Given the description of an element on the screen output the (x, y) to click on. 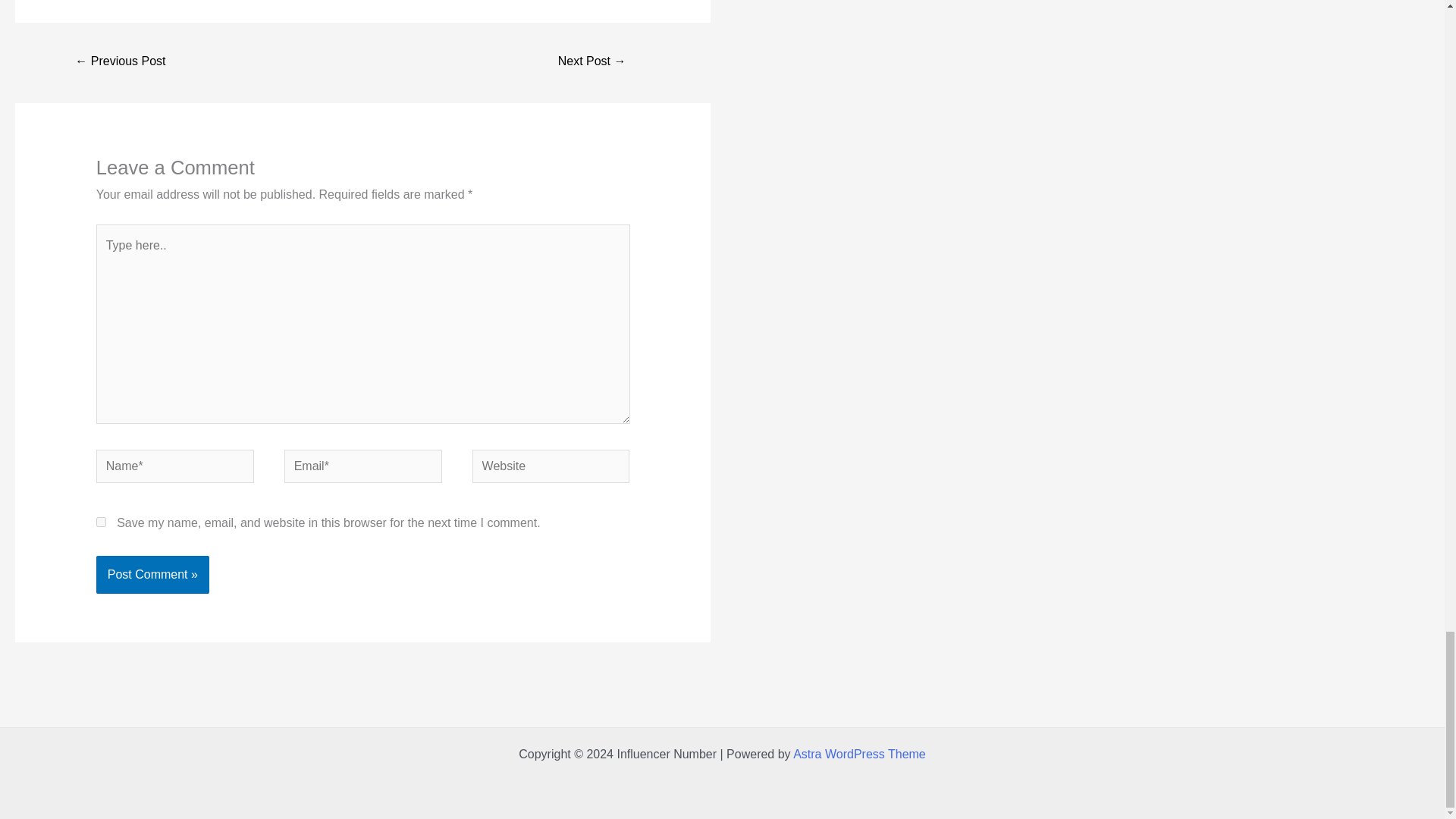
yes (101, 521)
